Given the description of an element on the screen output the (x, y) to click on. 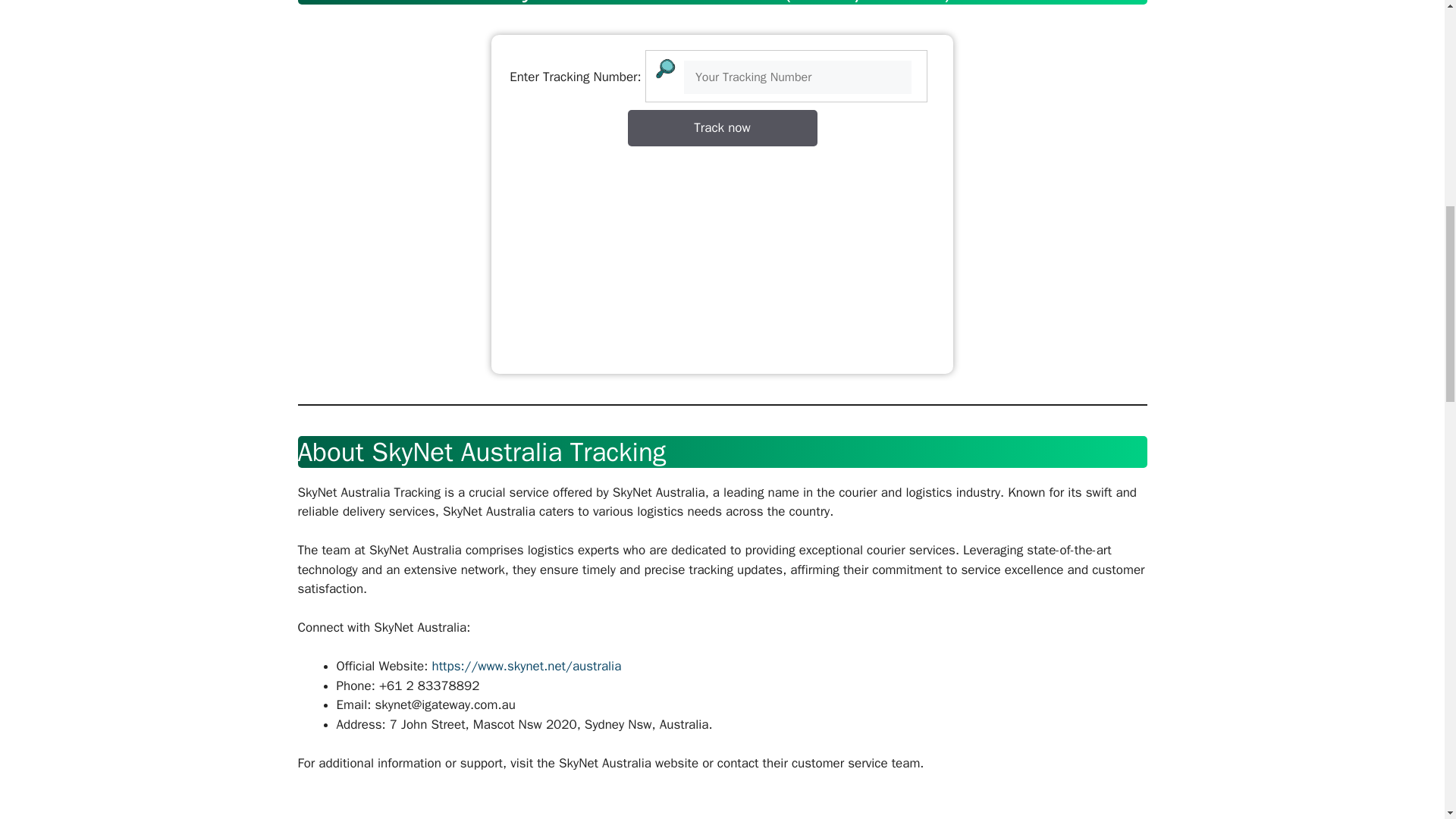
Track now (721, 127)
Advertisement (721, 252)
Scroll back to top (1406, 720)
